Given the description of an element on the screen output the (x, y) to click on. 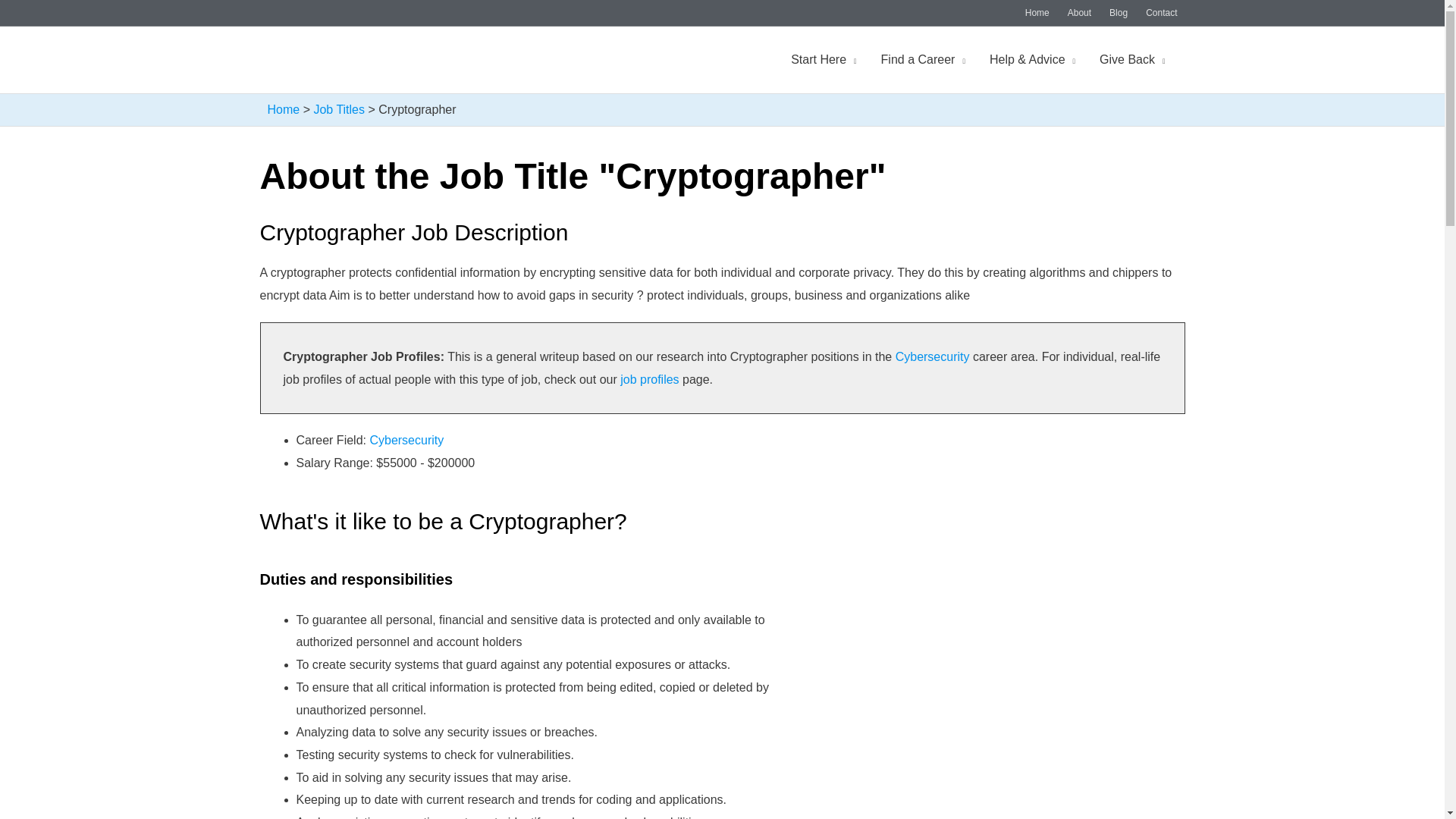
Find a Career (922, 60)
Go to The Career Project. (282, 109)
Blog (1118, 12)
Contact (1156, 12)
Home (1037, 12)
Start Here (822, 60)
Go to Job Titles. (339, 109)
About (1079, 12)
